Given the description of an element on the screen output the (x, y) to click on. 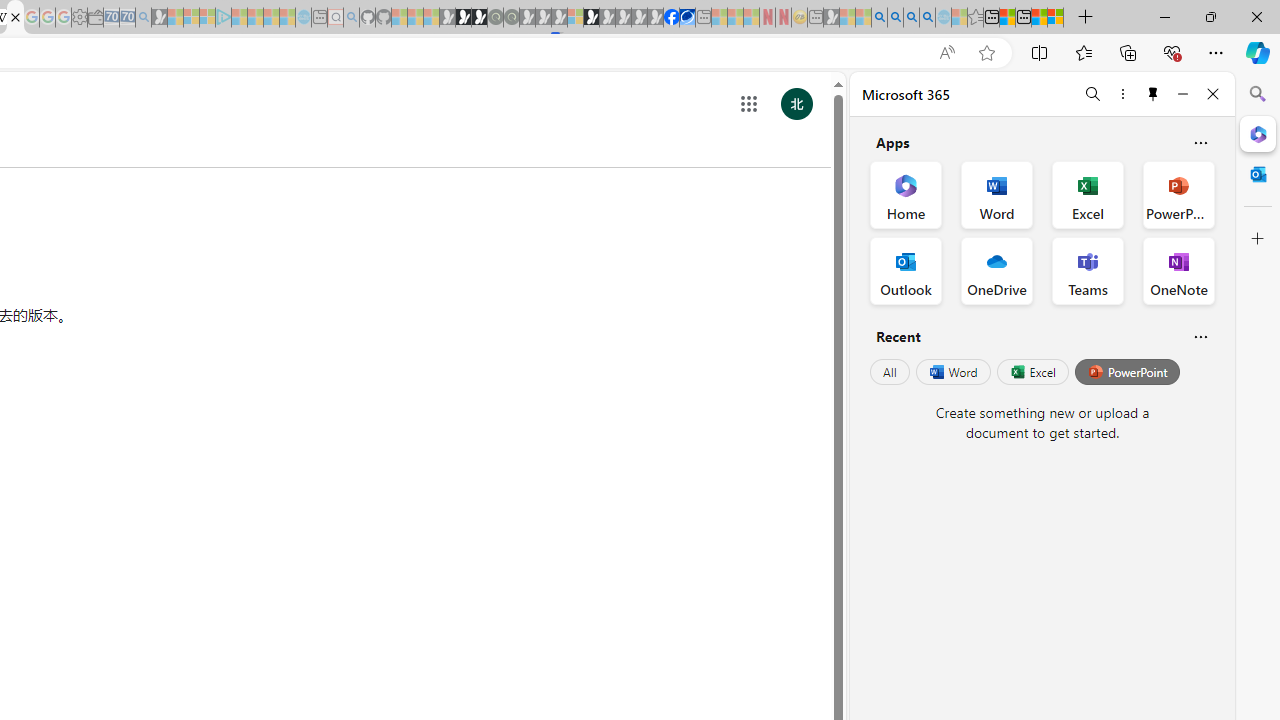
Settings - Sleeping (79, 17)
Sign in to your account - Sleeping (575, 17)
github - Search - Sleeping (351, 17)
Home | Sky Blue Bikes - Sky Blue Bikes - Sleeping (303, 17)
Wallet - Sleeping (95, 17)
Aberdeen, Hong Kong SAR weather forecast | Microsoft Weather (1007, 17)
AirNow.gov (687, 17)
Teams Office App (1087, 270)
